Given the description of an element on the screen output the (x, y) to click on. 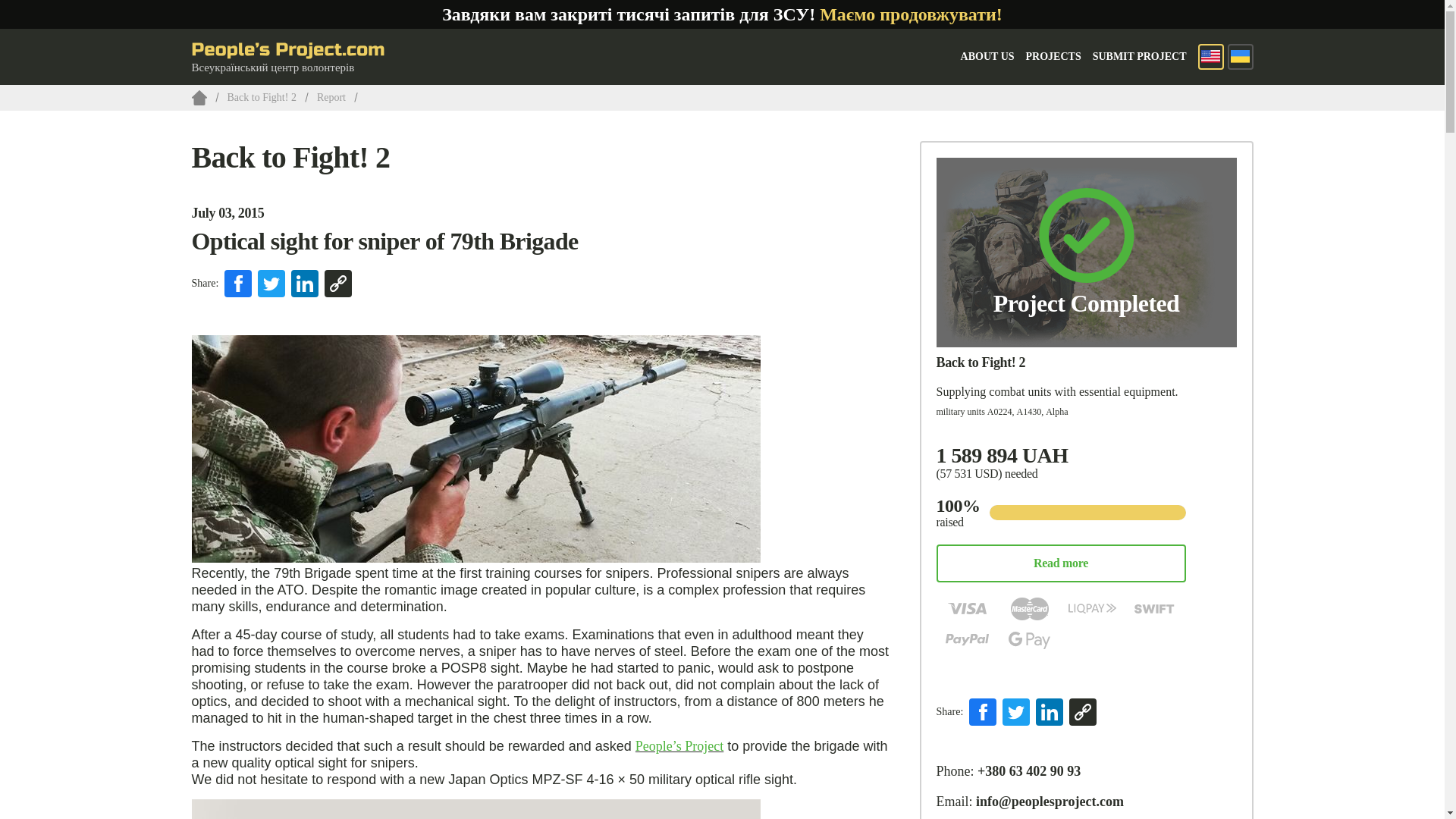
SUBMIT PROJECT (1139, 56)
Back to Fight! 2 (980, 362)
Back to Fight! 2 (290, 157)
PROJECTS (1053, 56)
Read more (1060, 563)
Report (331, 97)
ABOUT US (987, 56)
Home (198, 97)
Back to Fight! 2 (262, 97)
